Given the description of an element on the screen output the (x, y) to click on. 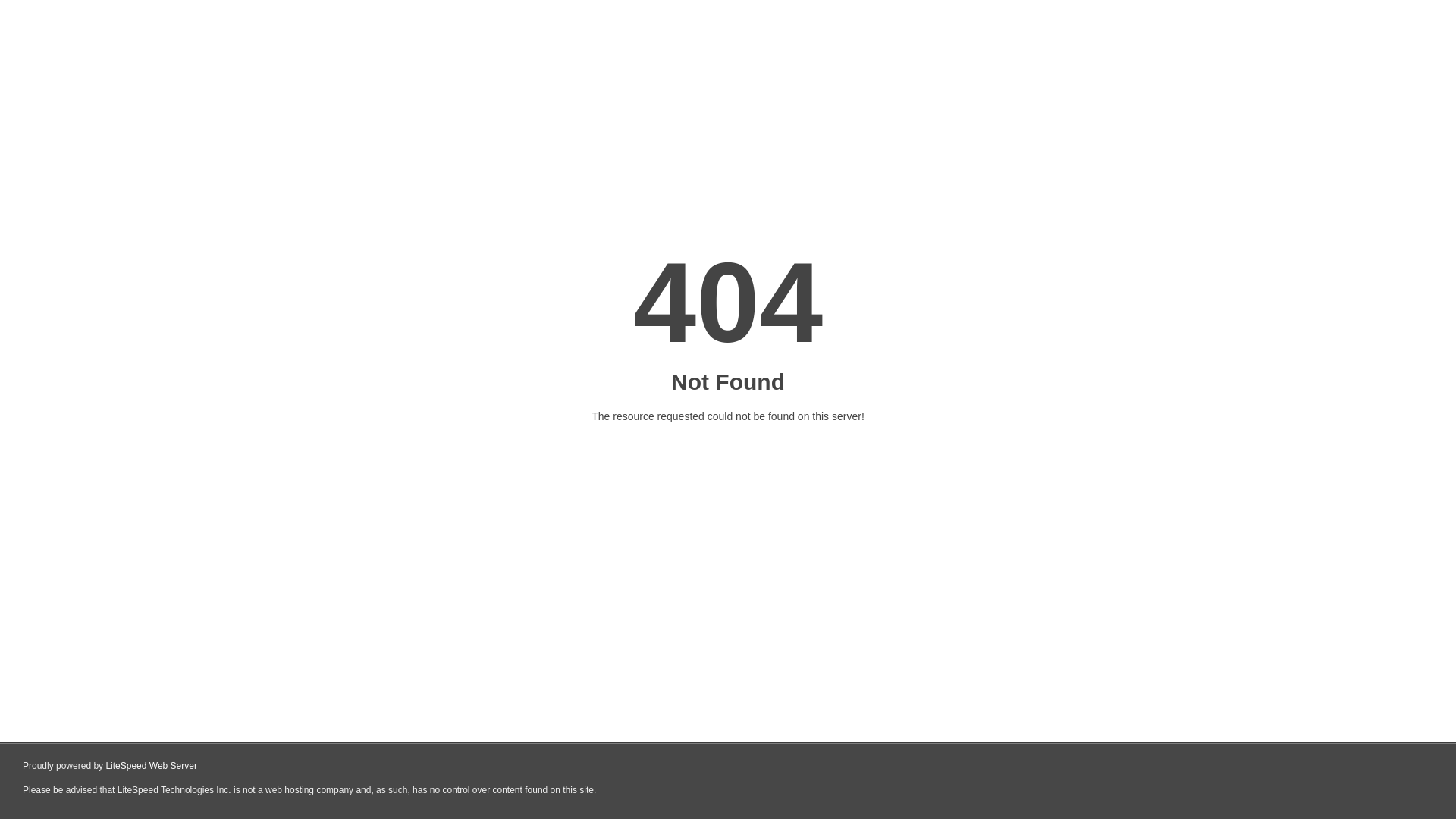
LiteSpeed Web Server Element type: text (151, 765)
